Given the description of an element on the screen output the (x, y) to click on. 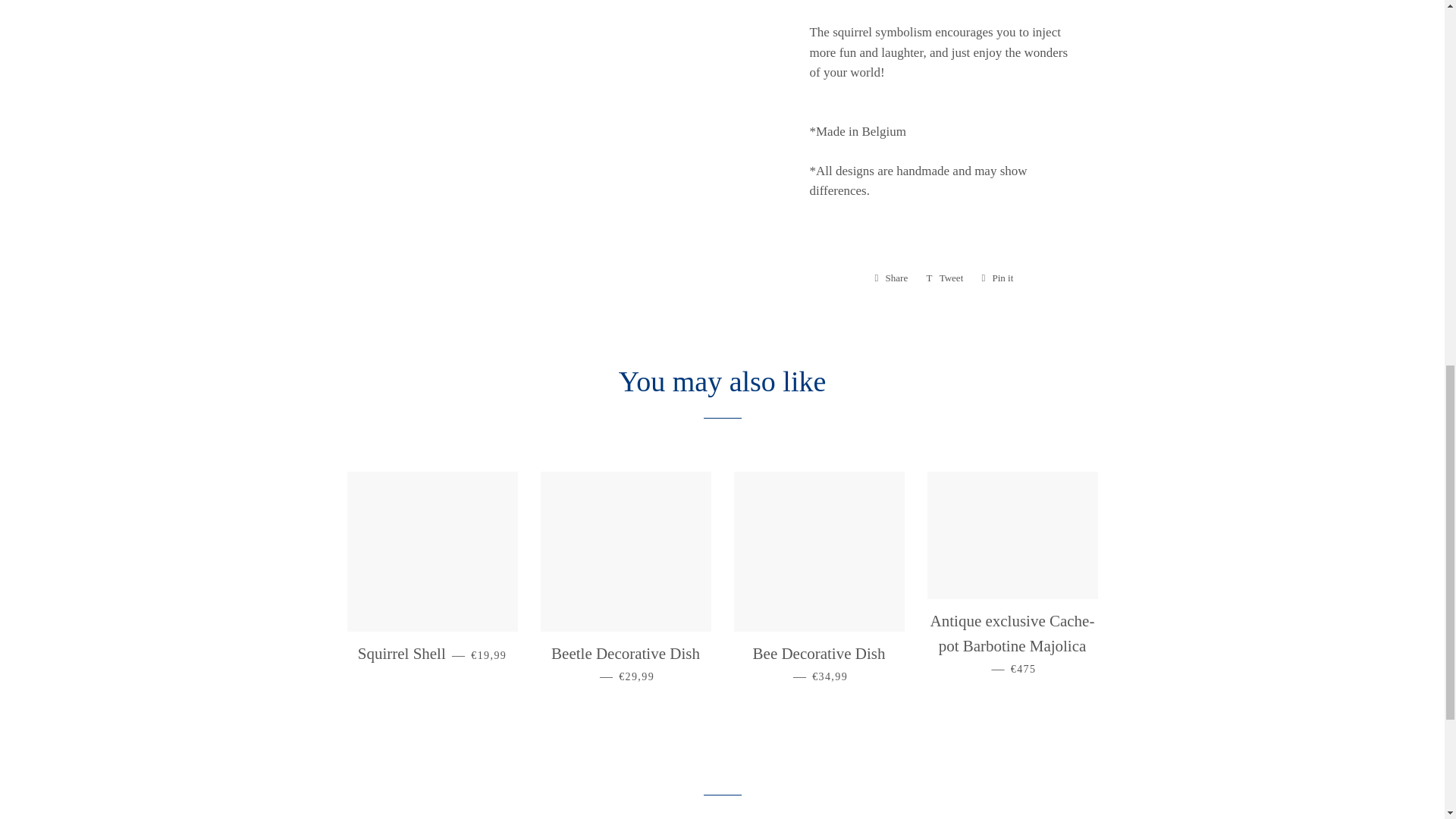
Pin on Pinterest (997, 277)
Share on Facebook (997, 277)
Tweet on Twitter (891, 277)
